Given the description of an element on the screen output the (x, y) to click on. 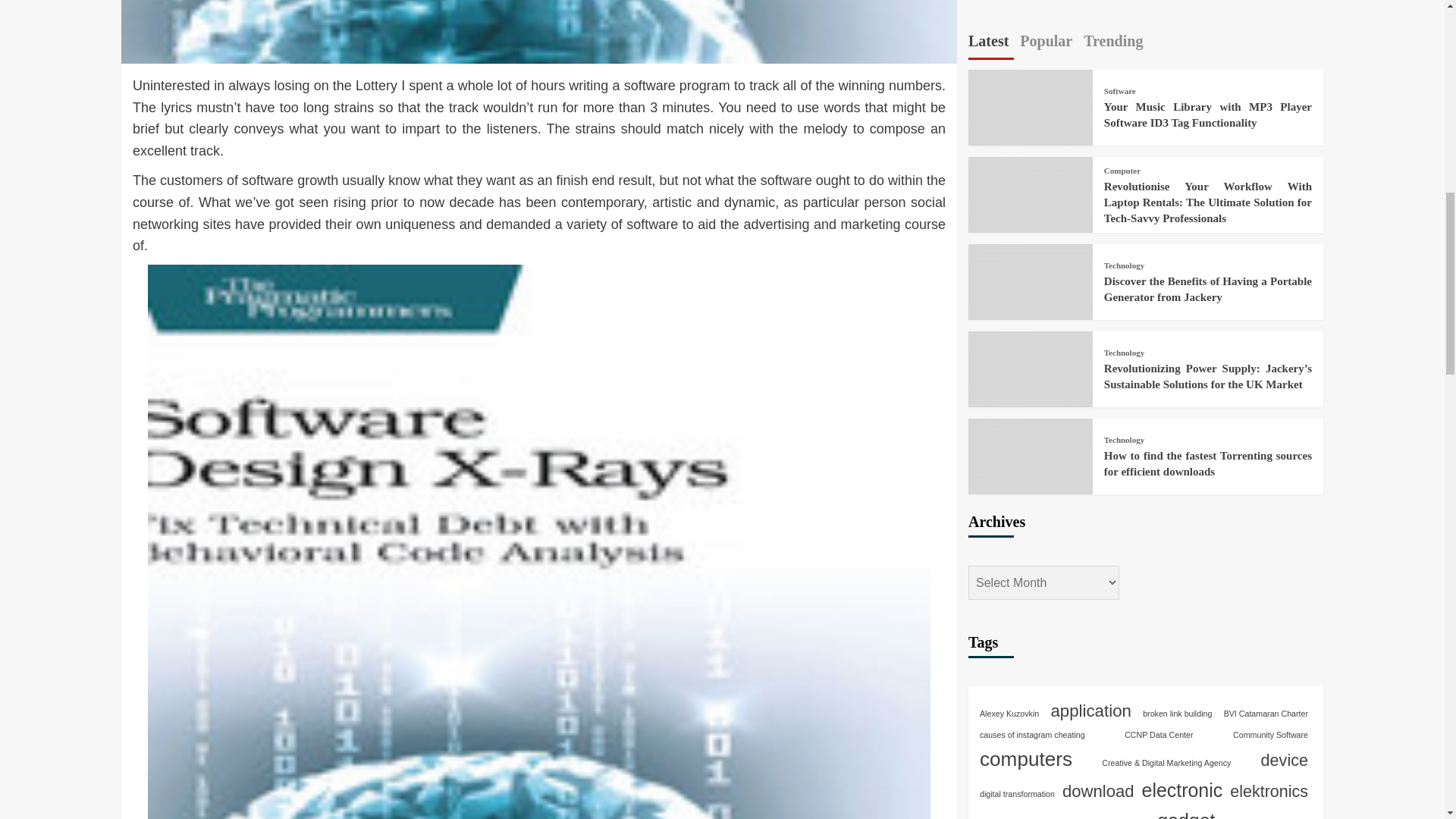
10 Software Download that'll Rock The Coming Year (538, 31)
